Given the description of an element on the screen output the (x, y) to click on. 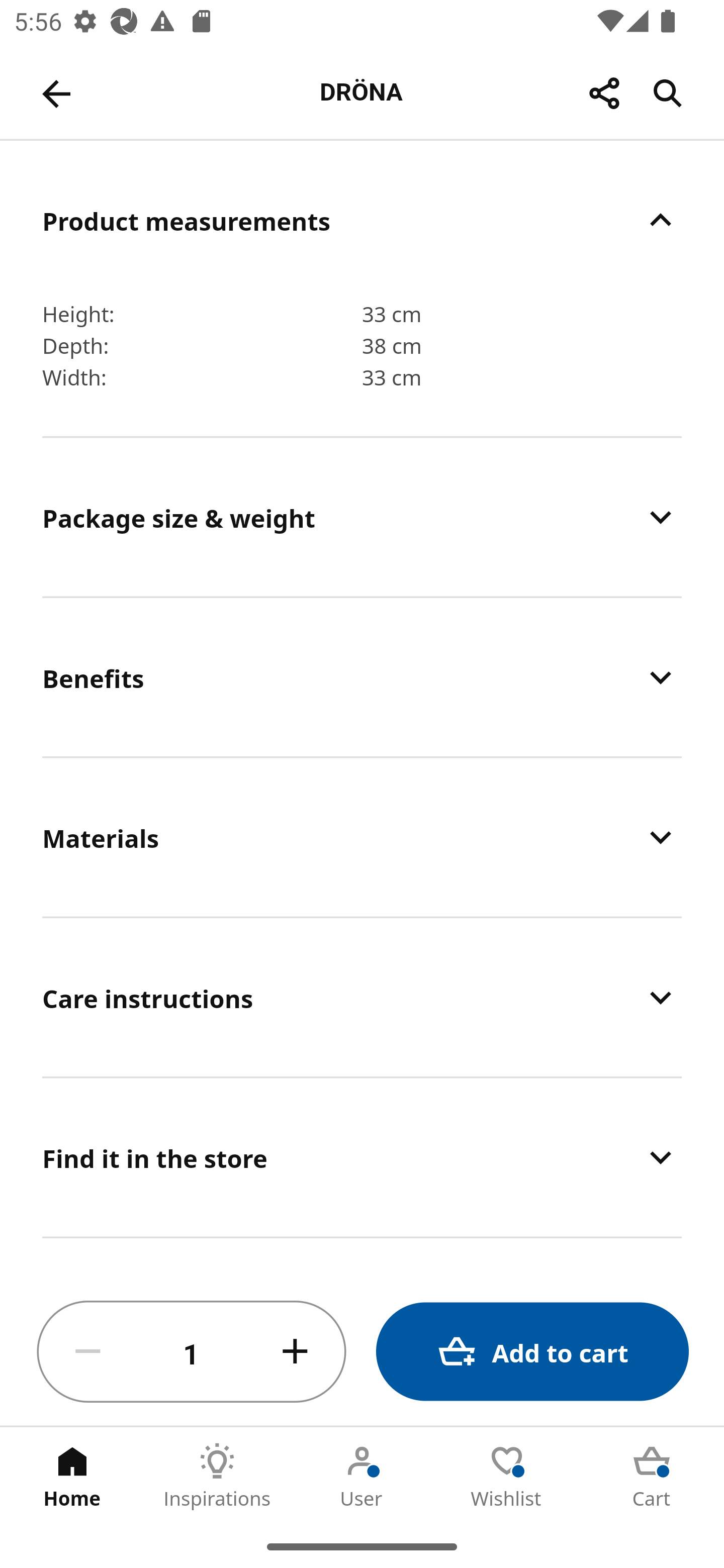
Product measurements (361, 219)
Package size & weight (361, 516)
Benefits (361, 677)
Materials (361, 837)
Care instructions (361, 997)
Find it in the store (361, 1157)
Add to cart (531, 1352)
1 (191, 1352)
Home
Tab 1 of 5 (72, 1476)
Inspirations
Tab 2 of 5 (216, 1476)
User
Tab 3 of 5 (361, 1476)
Wishlist
Tab 4 of 5 (506, 1476)
Cart
Tab 5 of 5 (651, 1476)
